Given the description of an element on the screen output the (x, y) to click on. 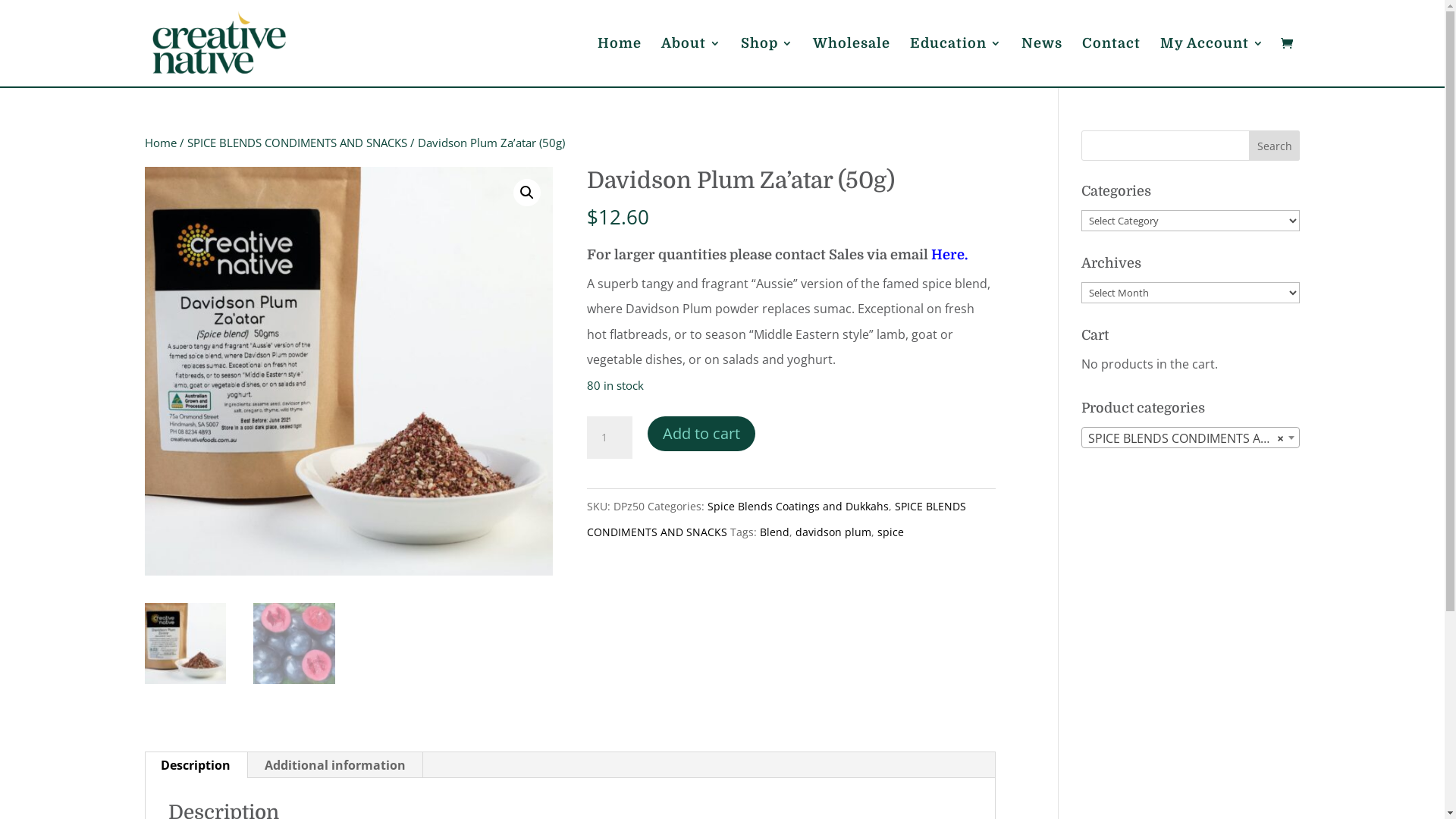
spice Element type: text (890, 531)
About Element type: text (691, 61)
Search Element type: text (1274, 145)
Home Element type: text (619, 61)
Contact Element type: text (1110, 61)
Shop Element type: text (766, 61)
News Element type: text (1040, 61)
Spice Blends Coatings and Dukkahs Element type: text (797, 505)
Wholesale Element type: text (851, 61)
Davidson Plum Za'atar (50g) 2 Element type: hover (348, 370)
Description Element type: text (195, 765)
Education Element type: text (955, 61)
Here Element type: text (947, 254)
davidson plum Element type: text (833, 531)
My Account Element type: text (1212, 61)
Additional information Element type: text (334, 765)
Blend Element type: text (774, 531)
SPICE BLENDS CONDIMENTS AND SNACKS Element type: text (296, 142)
Add to cart Element type: text (701, 433)
SPICE BLENDS CONDIMENTS AND SNACKS Element type: text (776, 518)
Home Element type: text (159, 142)
Davidson Plum, cut and whole Element type: hover (756, 370)
